Given the description of an element on the screen output the (x, y) to click on. 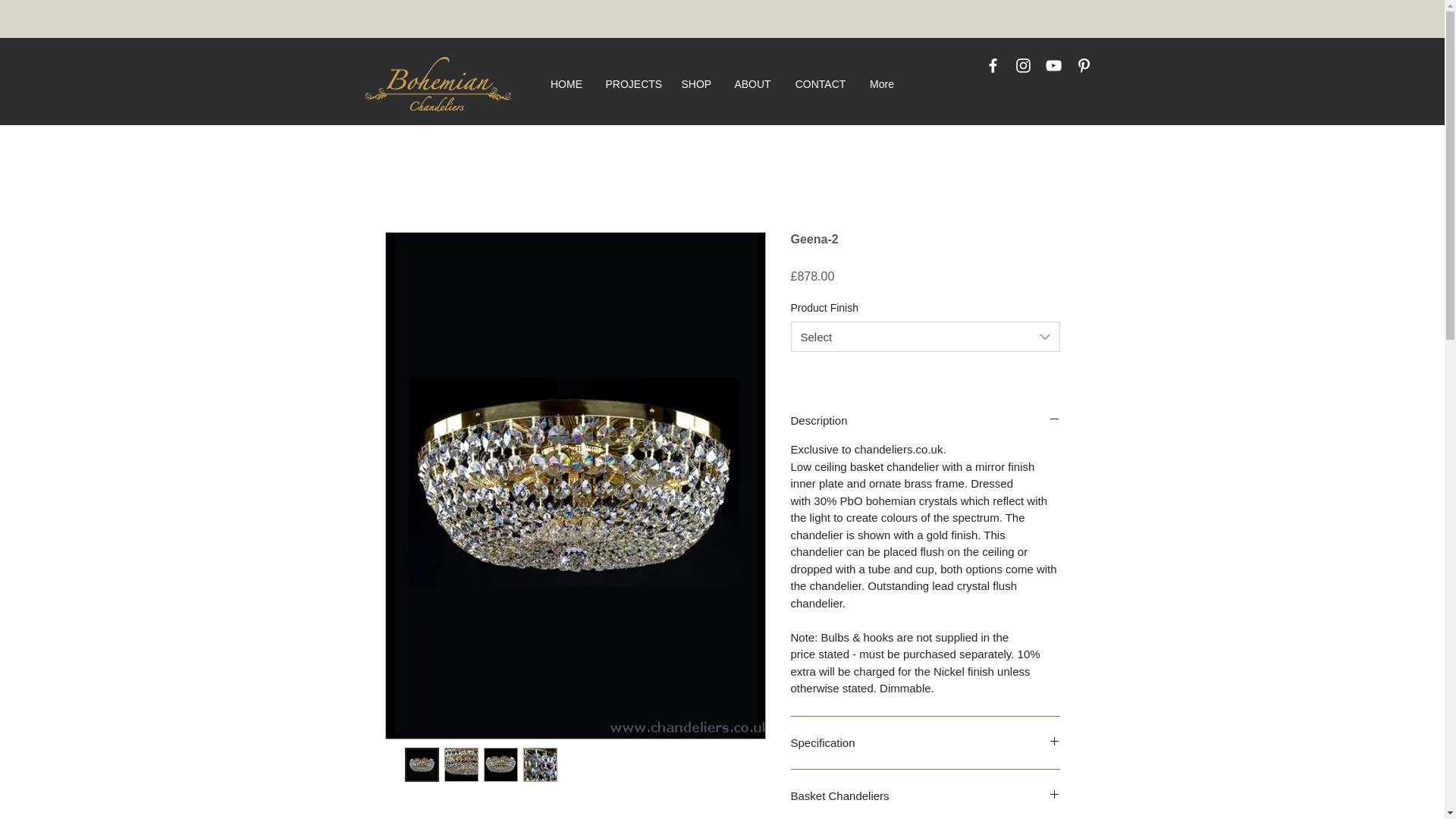
Specification (924, 742)
ABOUT (752, 83)
HOME (566, 83)
PROJECTS (631, 83)
Select (924, 336)
SHOP (695, 83)
Basket Chandeliers (924, 795)
Description (924, 420)
CONTACT (820, 83)
